Given the description of an element on the screen output the (x, y) to click on. 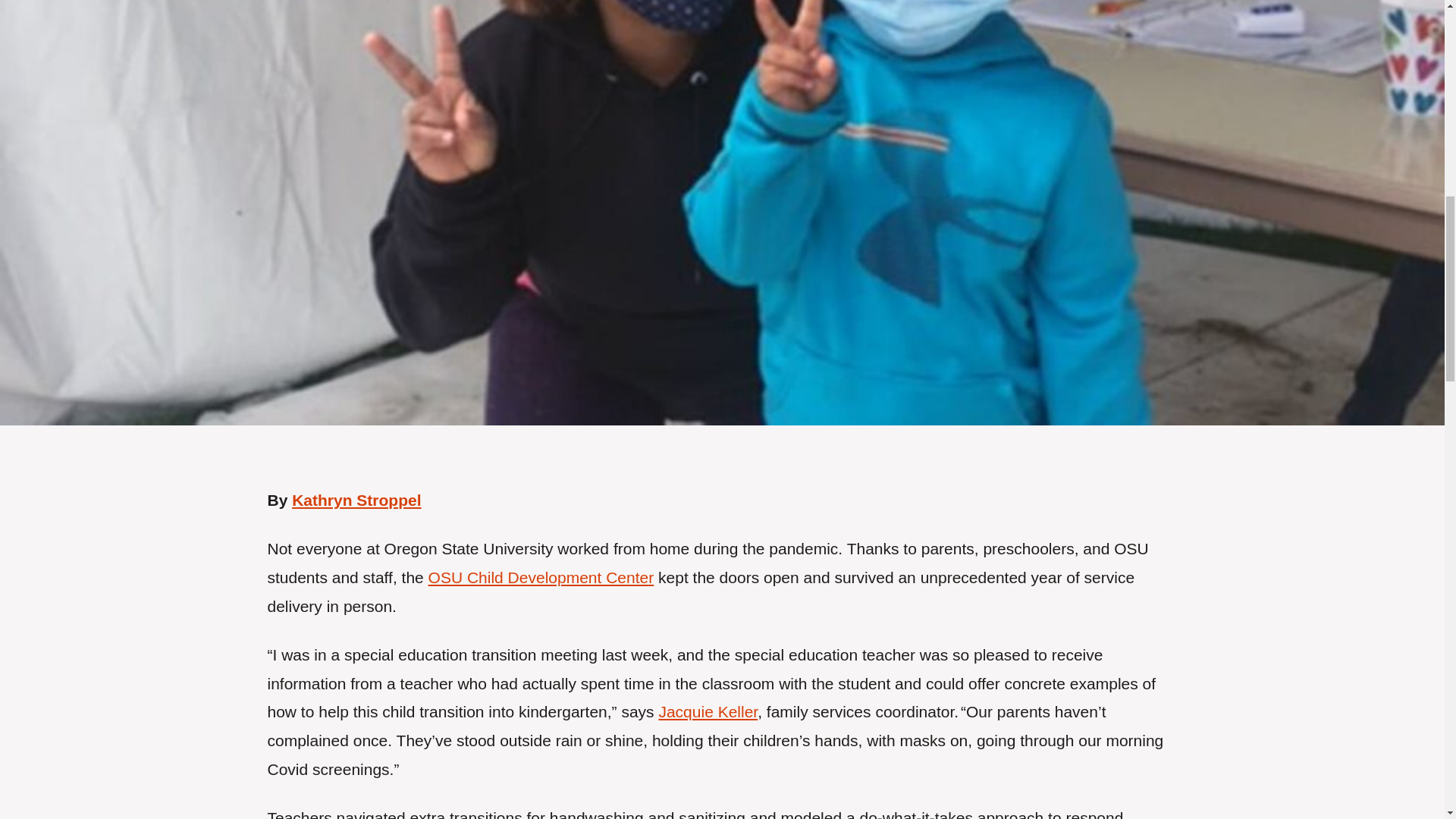
Jacquie Keller (707, 711)
OSU Child Development Center (540, 577)
Kathryn Stroppel (356, 499)
